Given the description of an element on the screen output the (x, y) to click on. 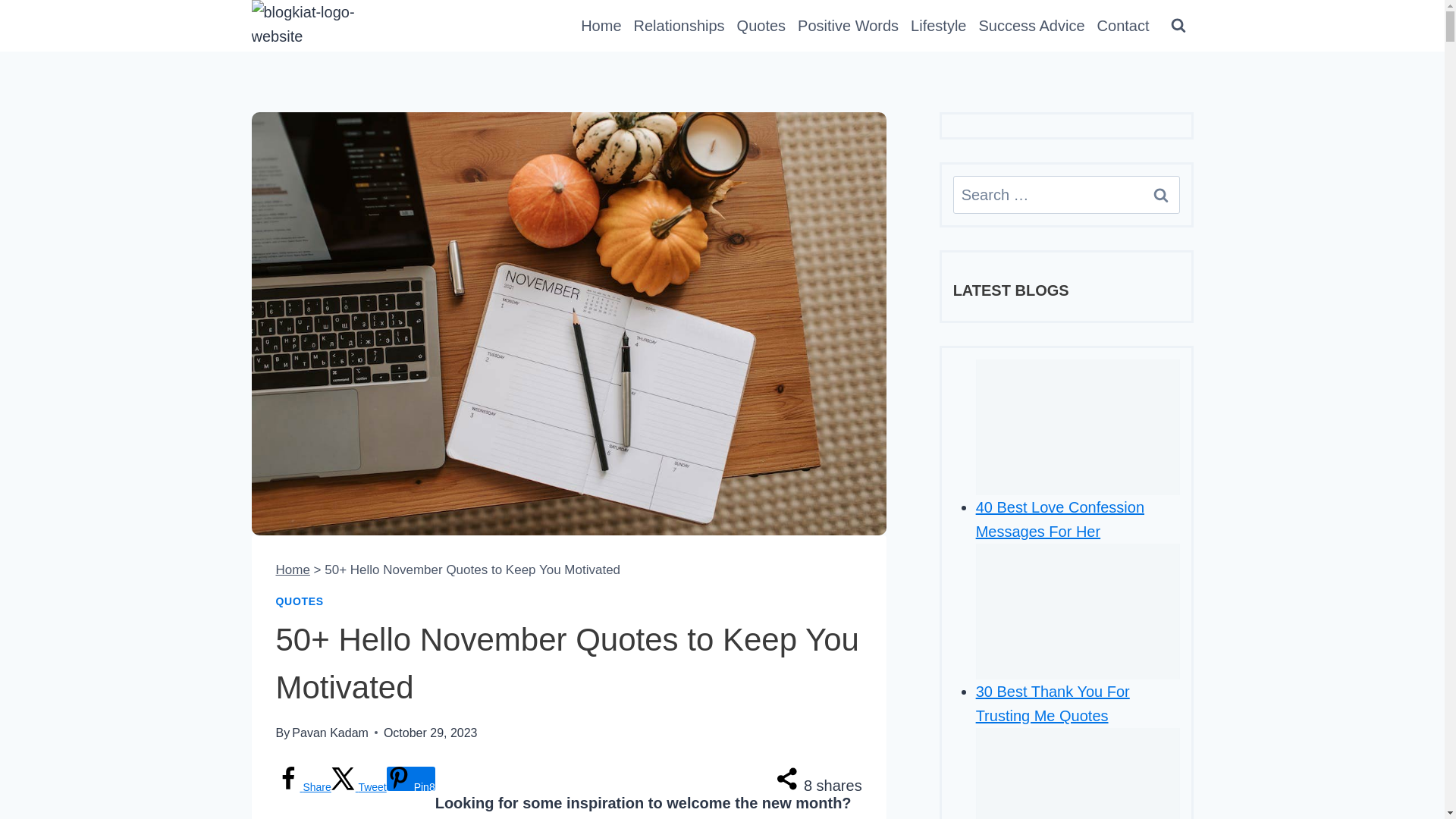
Search (1160, 194)
Relationships (678, 25)
Contact (1123, 25)
Success Advice (1031, 25)
Share (303, 787)
Quotes (761, 25)
Save to Pinterest (411, 778)
Pin8 (411, 778)
Lifestyle (938, 25)
QUOTES (299, 601)
Pavan Kadam (330, 732)
Tweet (359, 787)
Share on X (359, 787)
Positive Words (848, 25)
Share on Facebook (303, 787)
